Given the description of an element on the screen output the (x, y) to click on. 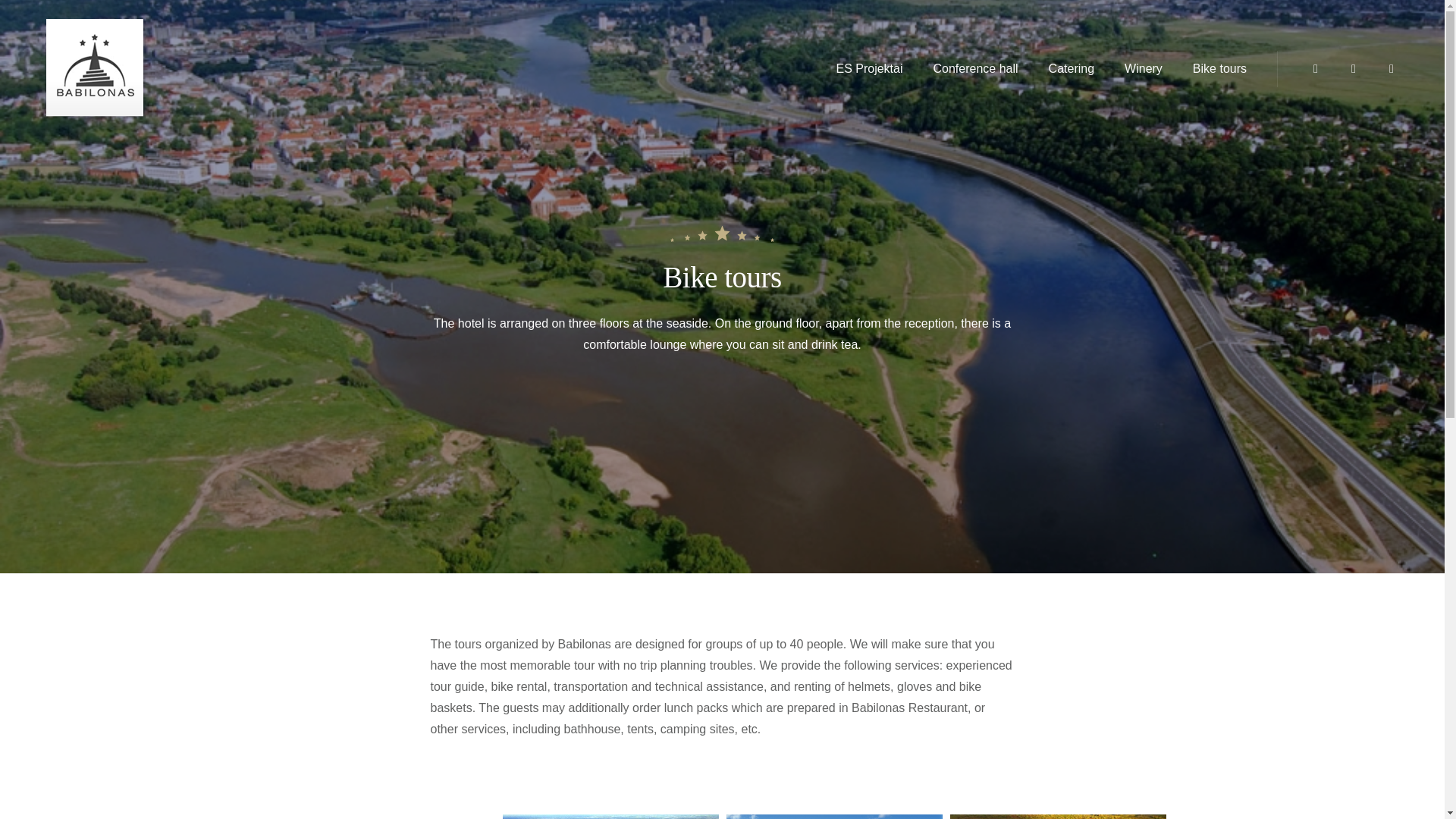
Bike tours (1219, 68)
Babilonas (190, 77)
Conference hall (975, 68)
ES Projektai (869, 68)
Winery (1143, 68)
Catering (1071, 68)
